Given the description of an element on the screen output the (x, y) to click on. 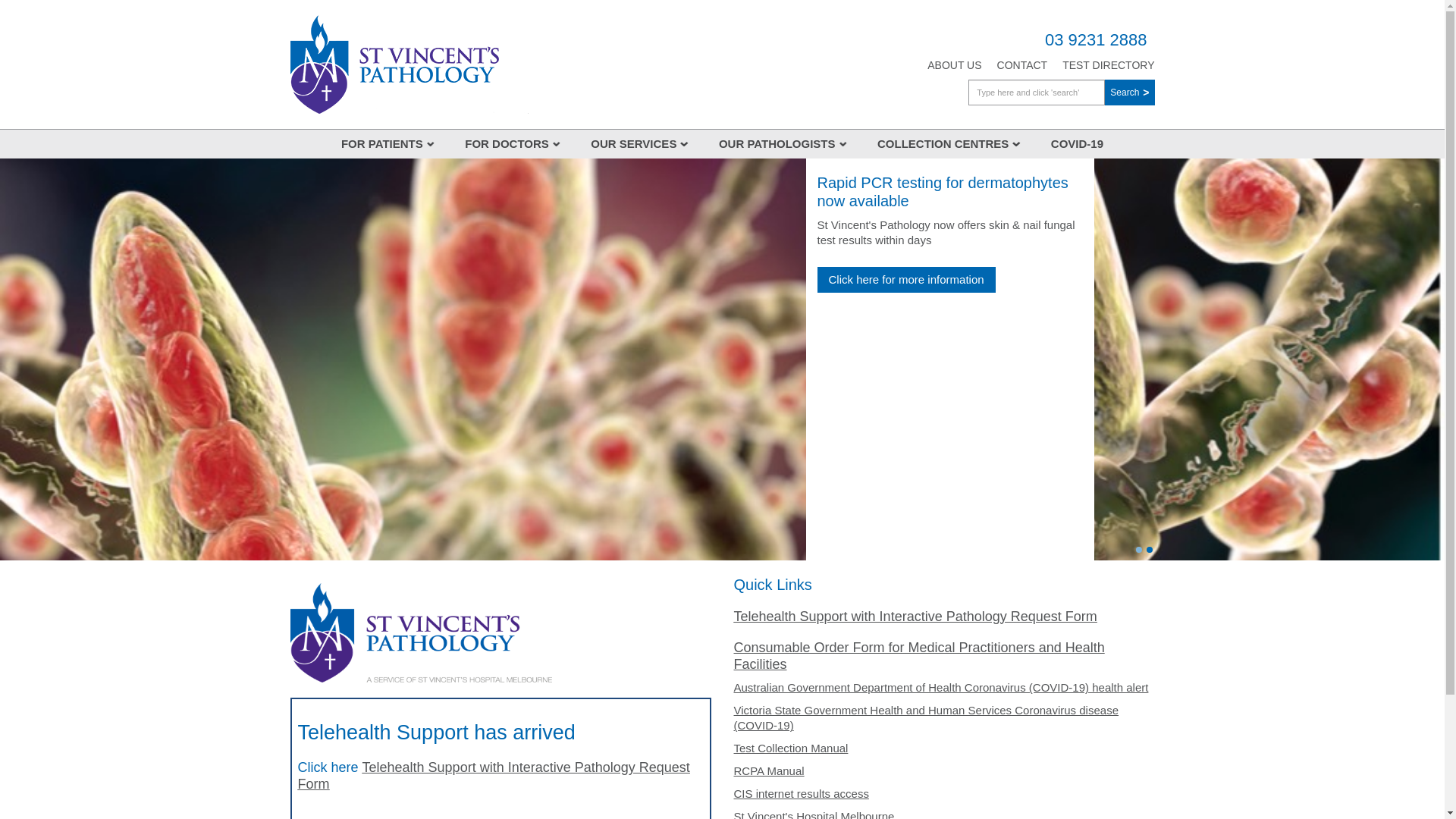
Keyword Element type: hover (1036, 92)
FOR PATIENTS Element type: text (387, 143)
1 Element type: text (1138, 549)
TEST DIRECTORY Element type: text (1108, 65)
RCPA Manual Element type: text (769, 770)
FOR DOCTORS Element type: text (512, 143)
CONTACT Element type: text (1022, 65)
Telehealth Support with Interactive Pathology Request Form Element type: text (493, 775)
COLLECTION CENTRES Element type: text (948, 143)
Search Element type: text (1129, 92)
  Element type: text (421, 630)
ABOUT US Element type: text (954, 65)
Test Collection Manual Element type: text (791, 747)
Click here for more information Element type: text (906, 279)
OUR PATHOLOGISTS Element type: text (782, 143)
Telehealth Support with Interactive Pathology Request Form Element type: text (915, 616)
COVID-19 Element type: text (1076, 143)
OUR SERVICES Element type: text (639, 143)
CIS internet results access Element type: text (801, 793)
2 Element type: text (1149, 549)
